Given the description of an element on the screen output the (x, y) to click on. 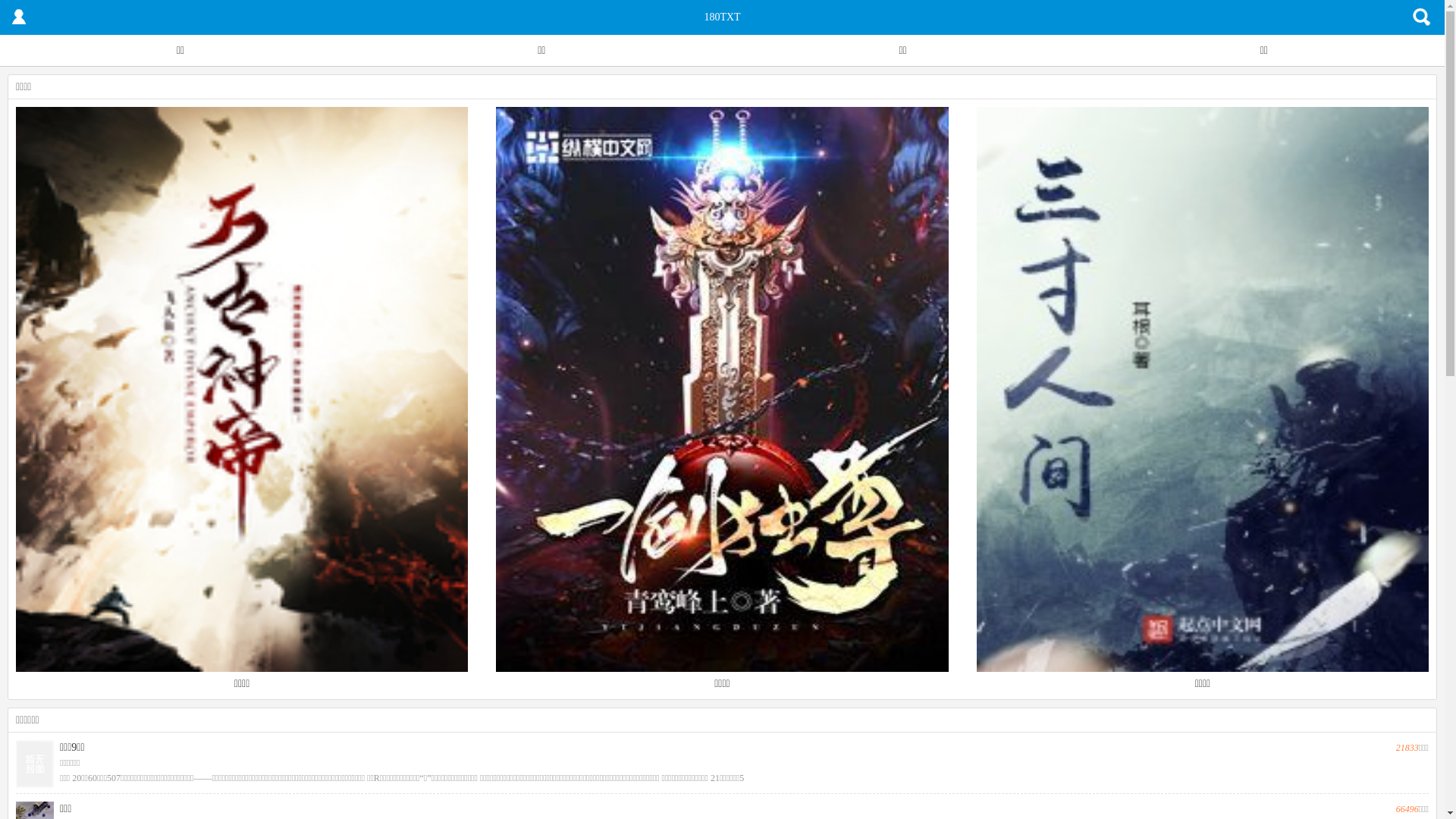
  Element type: text (18, 17)
  Element type: text (1421, 17)
